Given the description of an element on the screen output the (x, y) to click on. 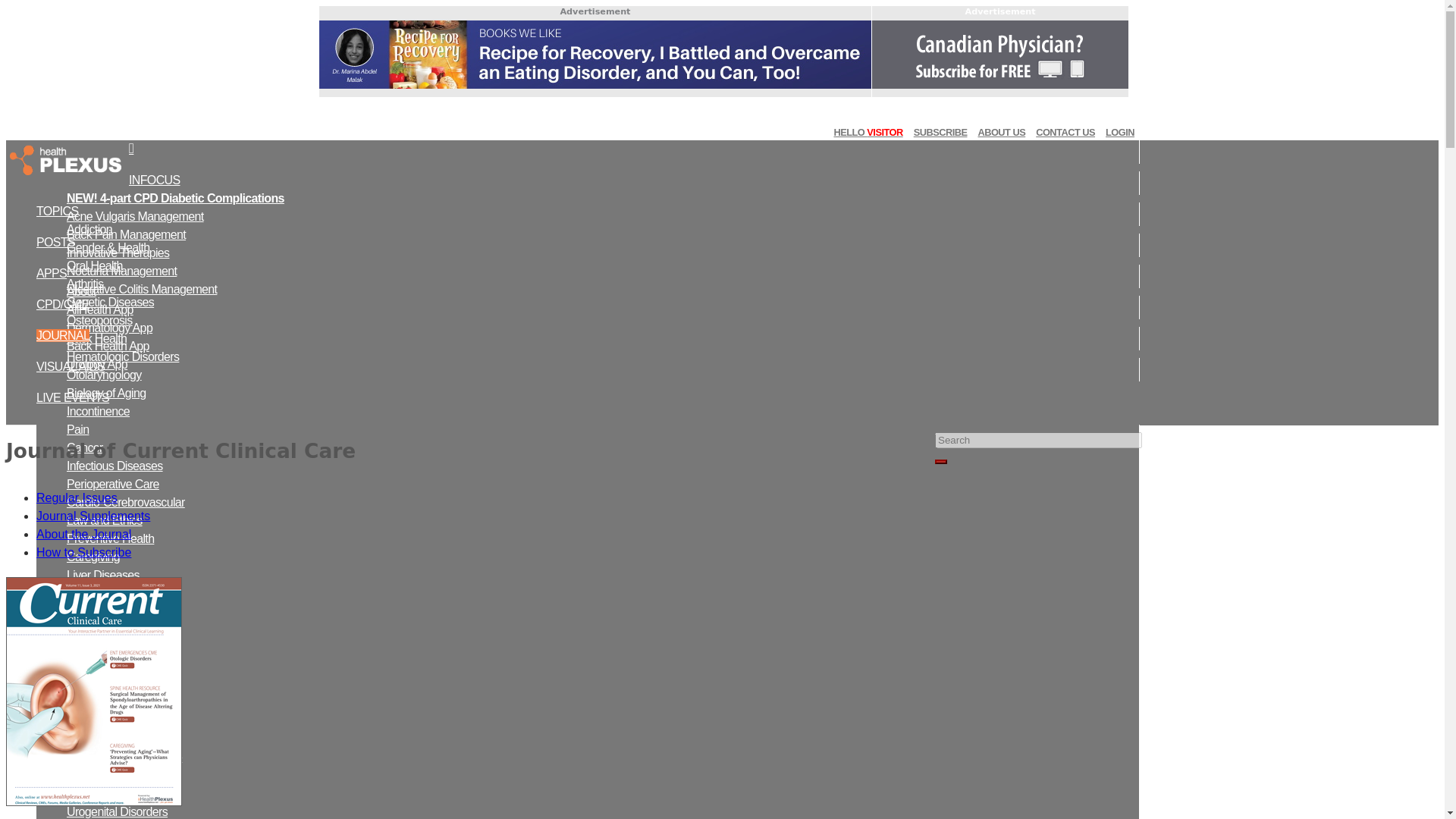
Innovative Therapies (117, 252)
CONTACT US (1065, 132)
ABOUT US (1001, 132)
Incontinence (97, 410)
Law and Ethics (104, 520)
Infectious Diseases (114, 465)
Back Health (96, 338)
Arthritis (84, 283)
HELLO VISITOR (867, 132)
Biology of Aging (106, 392)
Addiction (89, 228)
Home (67, 161)
TOPICS (57, 210)
NEW! 4-part CPD Diabetic Complications (174, 197)
Otolaryngology (103, 374)
